Given the description of an element on the screen output the (x, y) to click on. 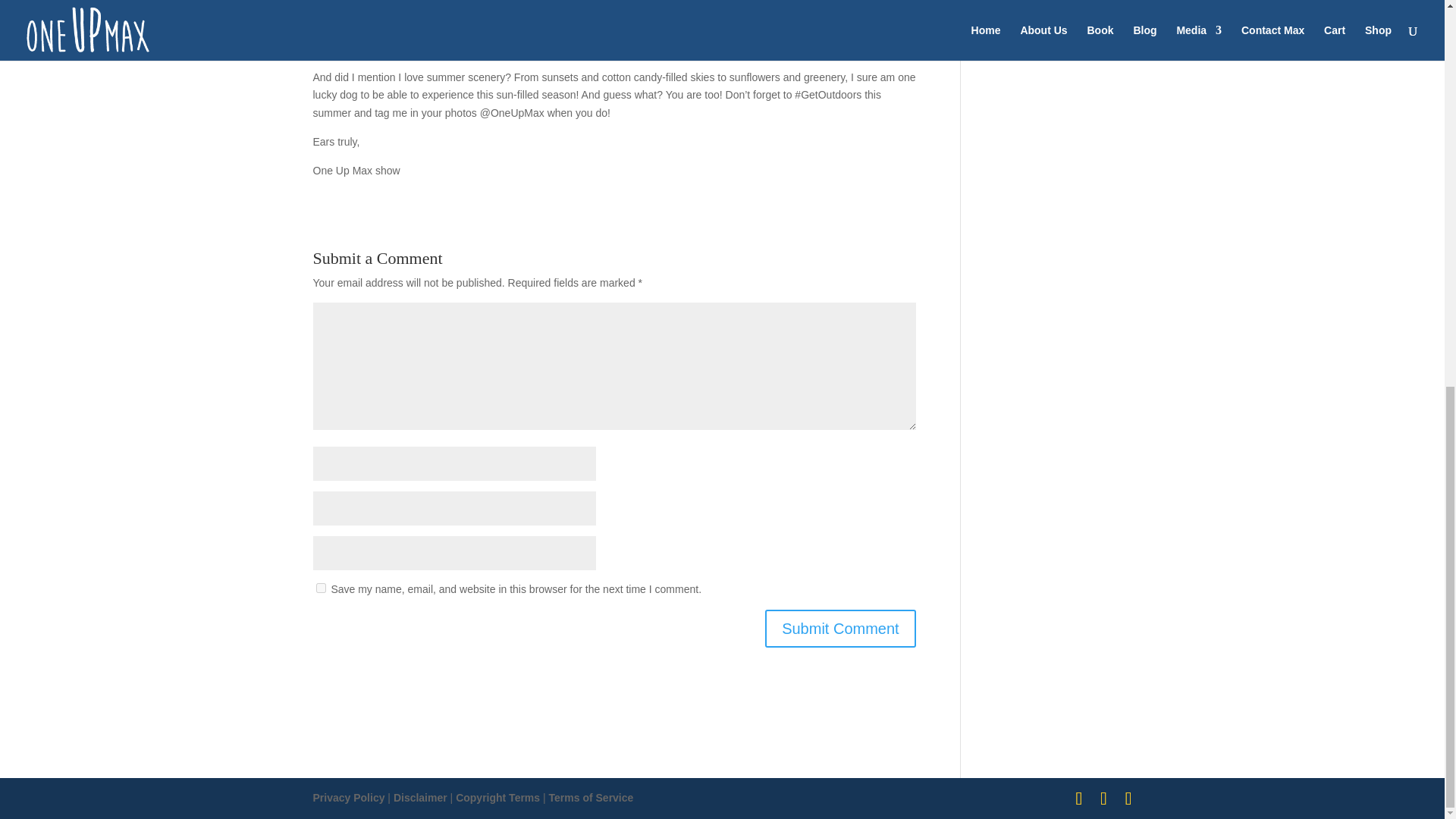
Submit Comment (840, 628)
Terms of Service (590, 797)
Privacy Policy (348, 797)
yes (319, 587)
Copyright Terms (497, 797)
Submit Comment (840, 628)
Disclaimer (419, 797)
